Given the description of an element on the screen output the (x, y) to click on. 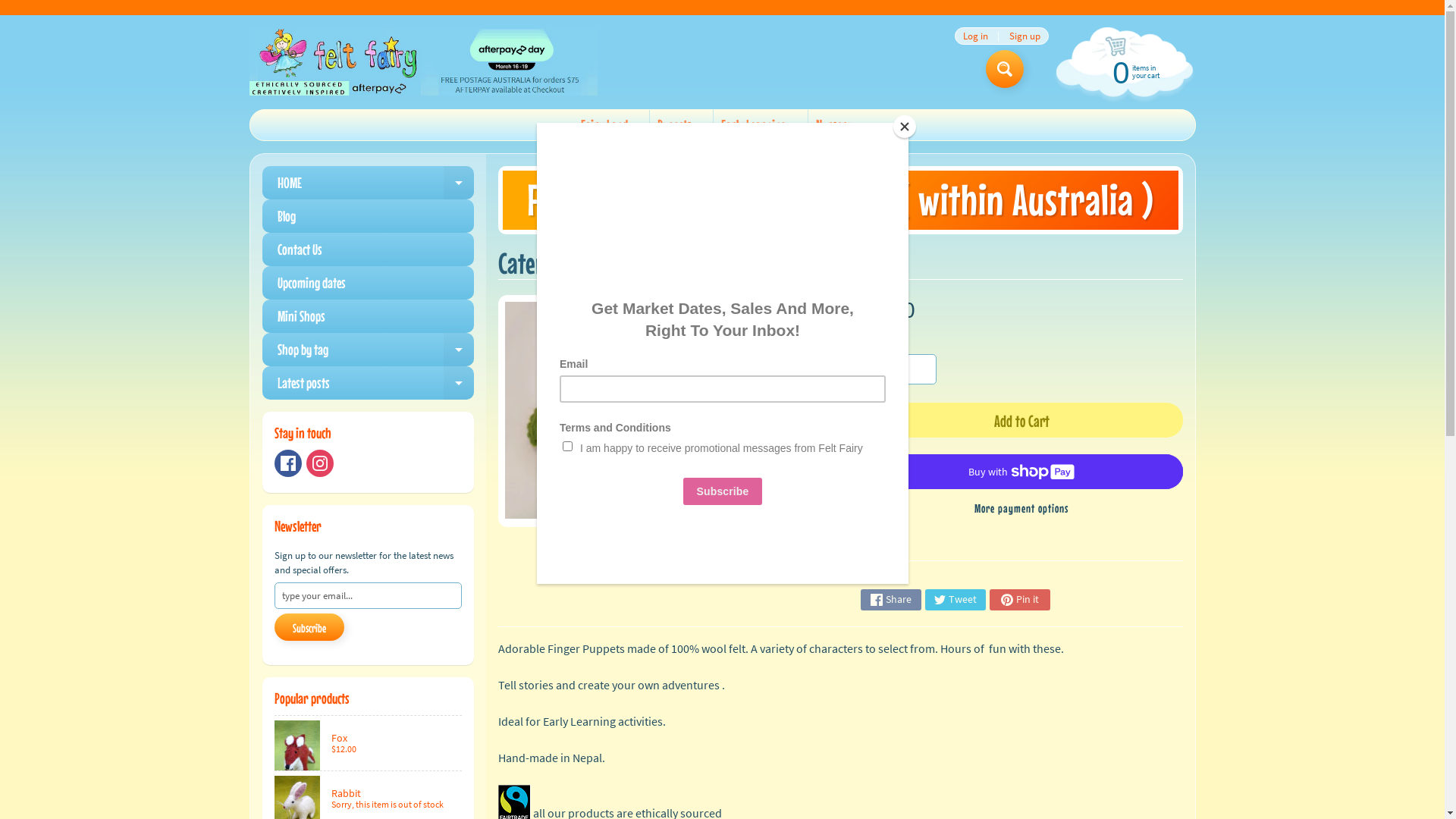
Expand child menu Element type: text (863, 124)
Fox
$12.00 Element type: text (368, 742)
Expand child menu Element type: text (797, 124)
Instagram Element type: hover (319, 462)
Expand child menu Element type: text (458, 382)
Expand child menu Element type: text (702, 124)
Expand child menu Element type: text (458, 349)
Felt Fairy Element type: hover (422, 62)
FREE POSTAGE ON ORDERS $75 ( within Australia ) Element type: text (840, 199)
Sign up Element type: text (1024, 35)
Mini Shops Element type: text (368, 315)
Share Element type: text (890, 599)
Expand child menu Element type: text (638, 124)
Search Element type: text (1004, 68)
Shop by tag
Expand child menu Element type: text (368, 349)
Log in Element type: text (974, 35)
Fairy Land
Expand child menu Element type: text (609, 124)
Contact Us Element type: text (368, 249)
Nursery
Expand child menu Element type: text (839, 124)
Pin it Element type: text (1019, 599)
Early Learning
Expand child menu Element type: text (759, 124)
More payment options Element type: text (1021, 507)
Latest posts
Expand child menu Element type: text (368, 382)
Tweet Element type: text (955, 599)
Expand child menu Element type: text (458, 182)
Blog Element type: text (368, 215)
HOME
Expand child menu Element type: text (368, 182)
Upcoming dates Element type: text (368, 282)
Subscribe Element type: text (309, 626)
Facebook Element type: hover (287, 462)
0
items in your cart Element type: text (1122, 71)
Puppets
Expand child menu Element type: text (679, 124)
Add to Cart Element type: text (1021, 419)
